Given the description of an element on the screen output the (x, y) to click on. 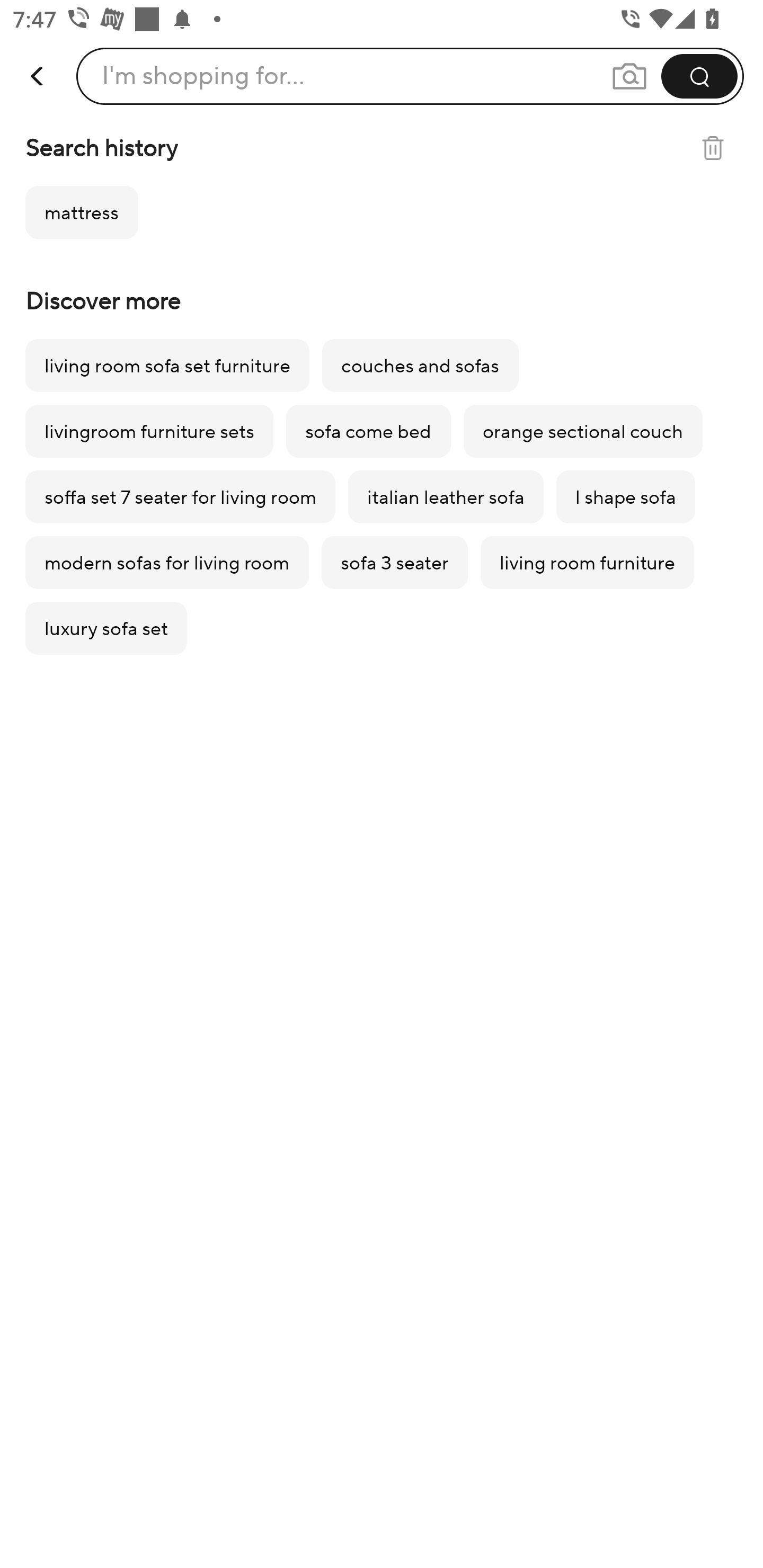
I'm shopping for… (203, 76)
mattress (81, 212)
living room sofa set furniture (167, 365)
couches and sofas (419, 365)
livingroom furniture sets (149, 430)
sofa come bed (368, 430)
orange sectional couch (582, 430)
soffa set 7 seater for living room (180, 496)
italian leather sofa (445, 496)
l shape sofa (625, 496)
modern sofas for living room (167, 562)
sofa 3 seater (394, 562)
living room furniture (587, 562)
luxury sofa set (105, 628)
